Given the description of an element on the screen output the (x, y) to click on. 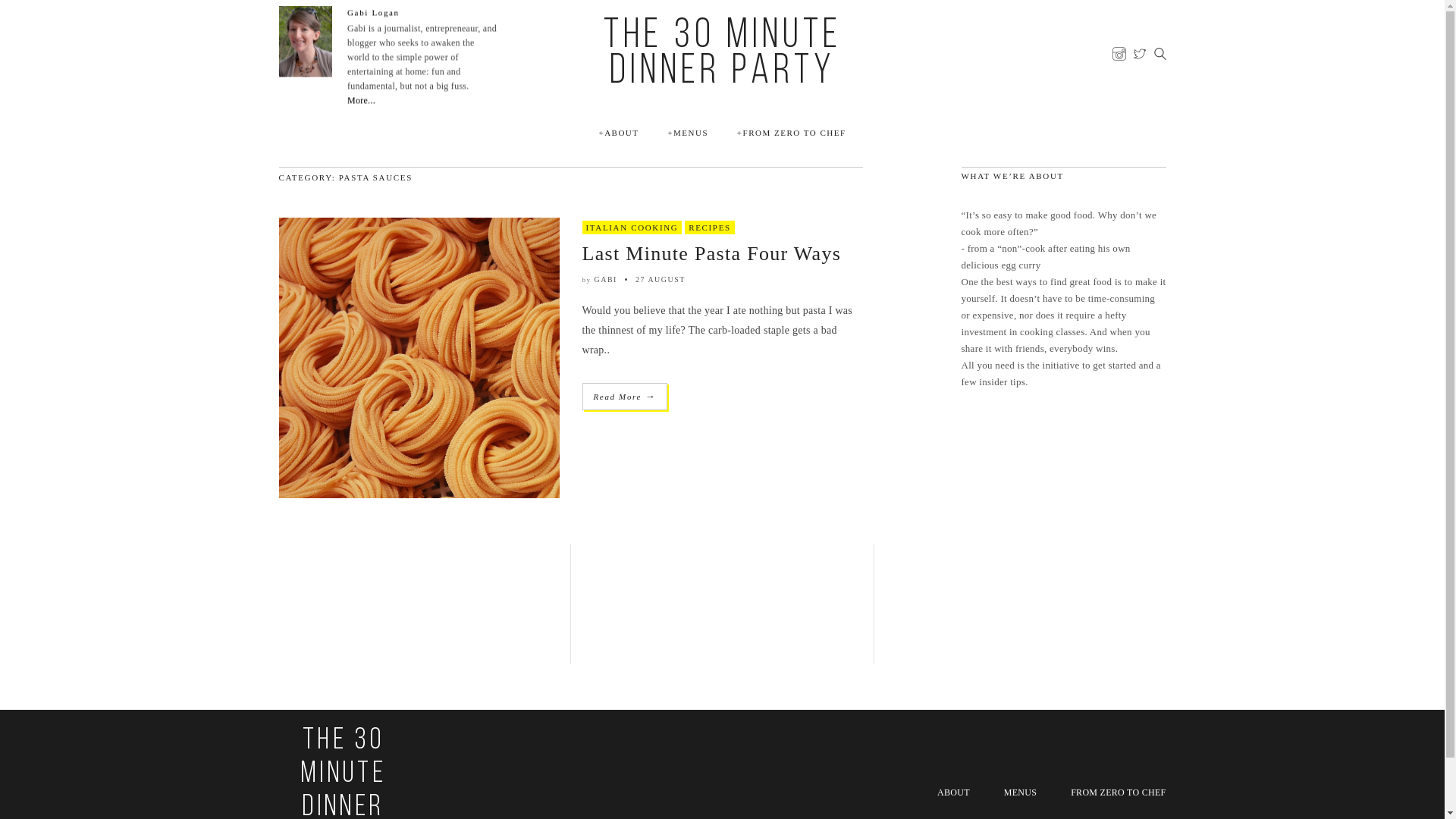
MENUS Element type: text (687, 132)
ITALIAN COOKING Element type: text (631, 227)
ABOUT Element type: text (618, 132)
Last Minute Pasta Four Ways Element type: text (711, 253)
Gabi Logan Element type: text (373, 11)
More... Element type: text (361, 100)
The 30 Minute Dinner Party Element type: text (721, 54)
MENUS Element type: text (1020, 792)
RECIPES Element type: text (709, 227)
FROM ZERO TO CHEF Element type: text (1117, 792)
FROM ZERO TO CHEF Element type: text (791, 132)
GABI Element type: text (605, 279)
ABOUT Element type: text (953, 792)
27 AUGUST Element type: text (660, 279)
